Given the description of an element on the screen output the (x, y) to click on. 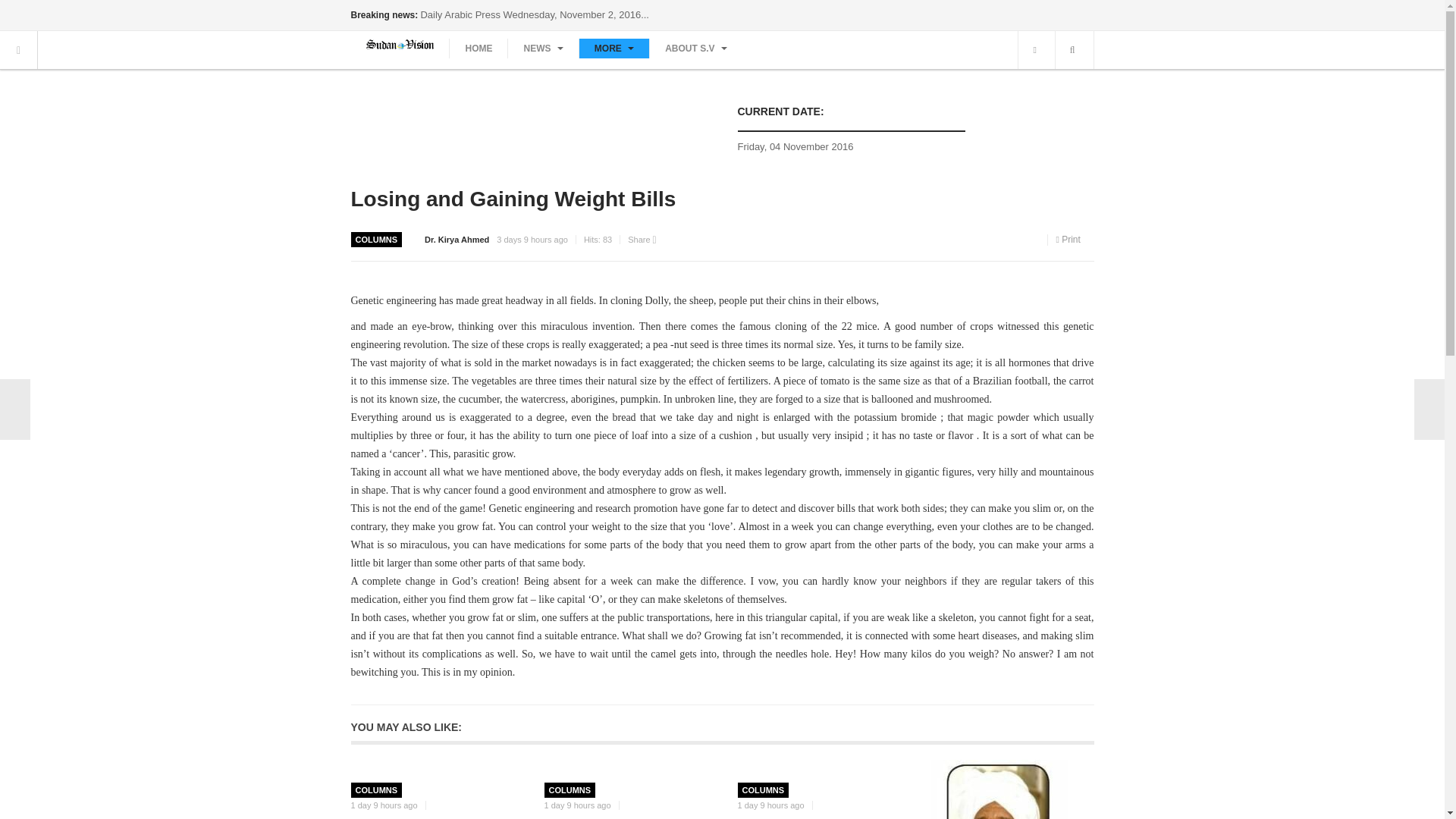
Share (641, 239)
ABOUT S.V (695, 48)
NEWS (542, 48)
COLUMNS (376, 239)
HOME (477, 48)
MORE (613, 48)
Sudan Vision Daily (399, 43)
Daily Arabic Press Wednesday, November 2, 2016... (534, 14)
Dr. Kirya Ahmed (457, 239)
Losing and Gaining Weight Bills (512, 198)
